Given the description of an element on the screen output the (x, y) to click on. 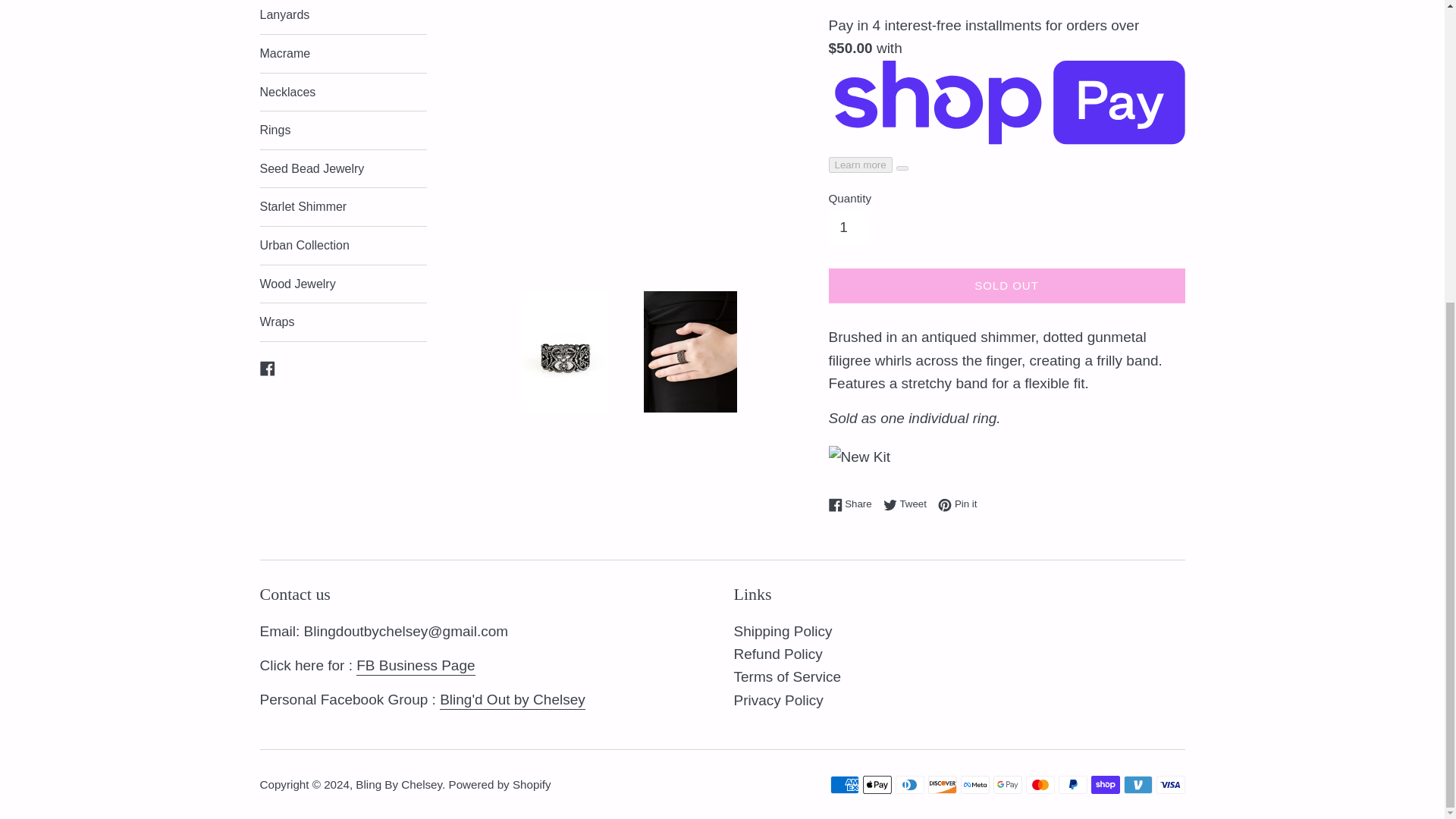
Diners Club (908, 503)
1 (909, 784)
Meta Pay (848, 226)
PayPal (973, 784)
Discover (1072, 784)
Urban Collection (942, 784)
Google Pay (342, 245)
American Express (1007, 784)
Bling By Chelsey (844, 784)
